Given the description of an element on the screen output the (x, y) to click on. 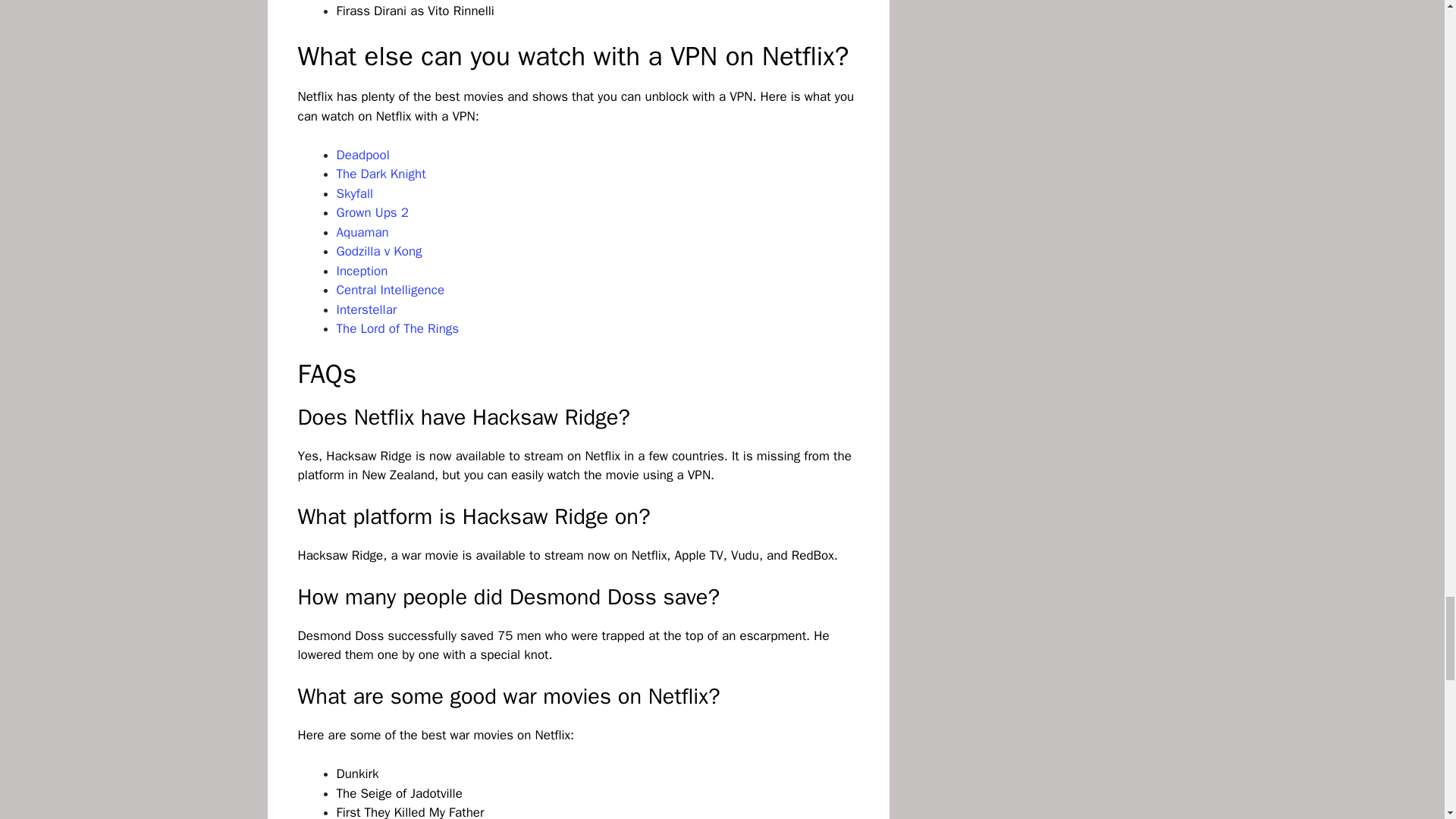
Deadpool (363, 154)
Aquaman (362, 232)
The Dark Knight (381, 173)
Godzilla v Kong (379, 251)
Grown Ups 2 (372, 212)
Inception (362, 270)
Skyfall (355, 193)
The Lord of The Rings (398, 328)
Interstellar (366, 309)
Central Intelligence (390, 289)
